Given the description of an element on the screen output the (x, y) to click on. 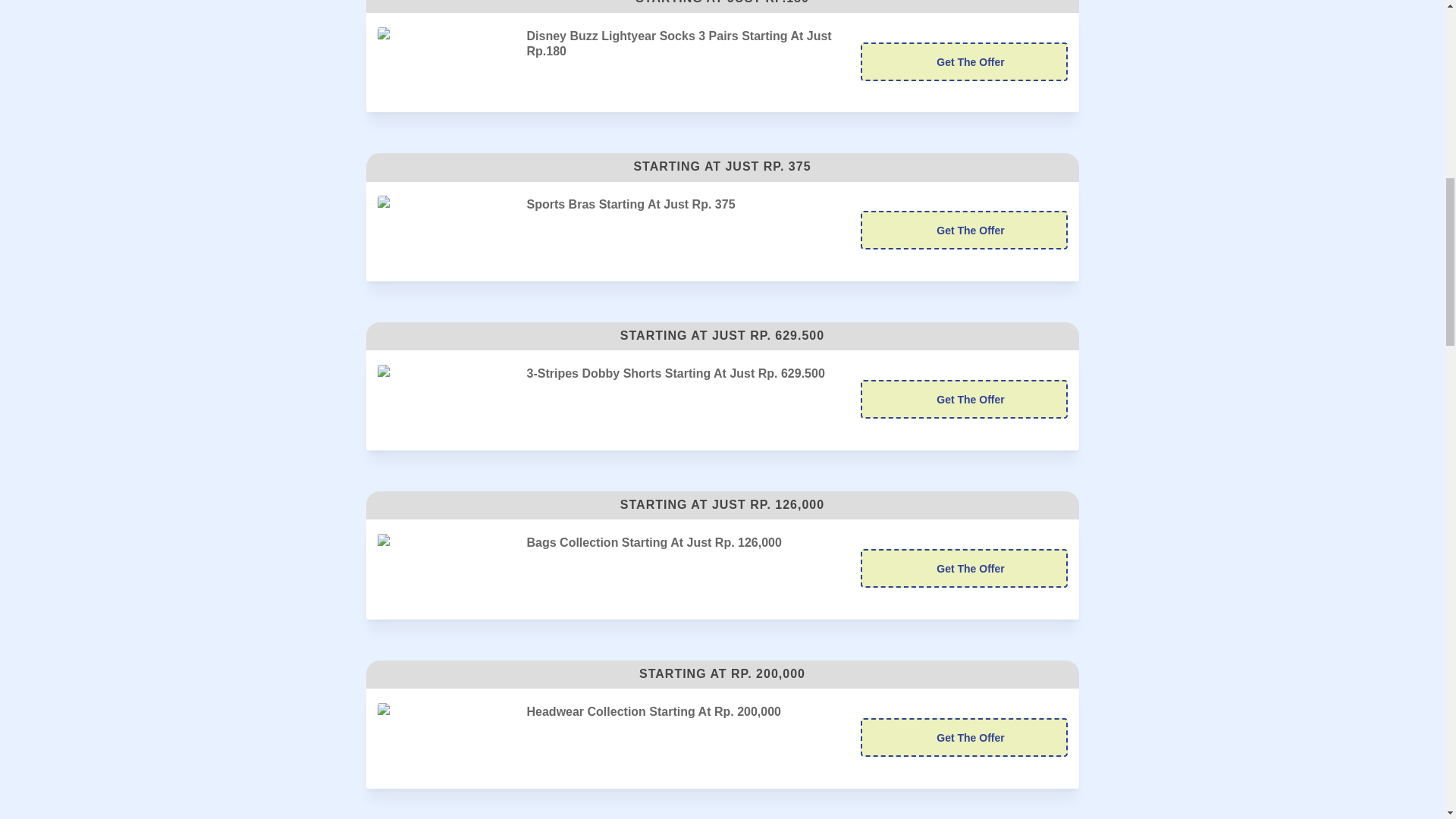
Disney Buzz Lightyear Socks 3 Pairs Starting At Just Rp.180 (446, 54)
Get The Offer (963, 399)
Get The Offer (963, 399)
3-Stripes Dobby Shorts Starting At Just Rp. 629.500 (446, 392)
Get The Offer (963, 61)
Bags Collection Starting At Just Rp. 126,000 (446, 560)
Get The Offer (963, 568)
Get The Offer (963, 61)
Get The Offer (963, 568)
Get The Offer (963, 229)
